Given the description of an element on the screen output the (x, y) to click on. 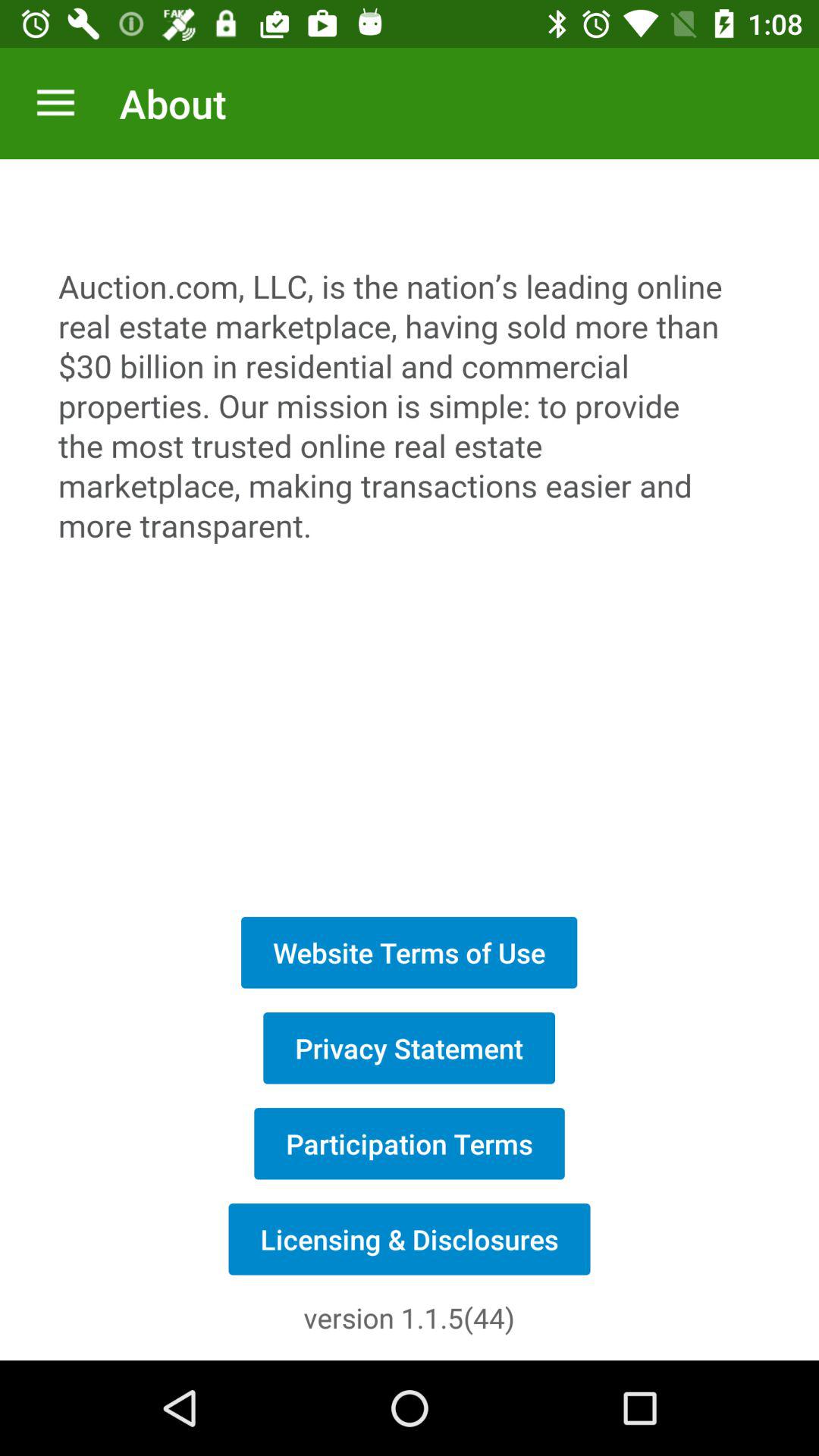
write text (409, 529)
